Given the description of an element on the screen output the (x, y) to click on. 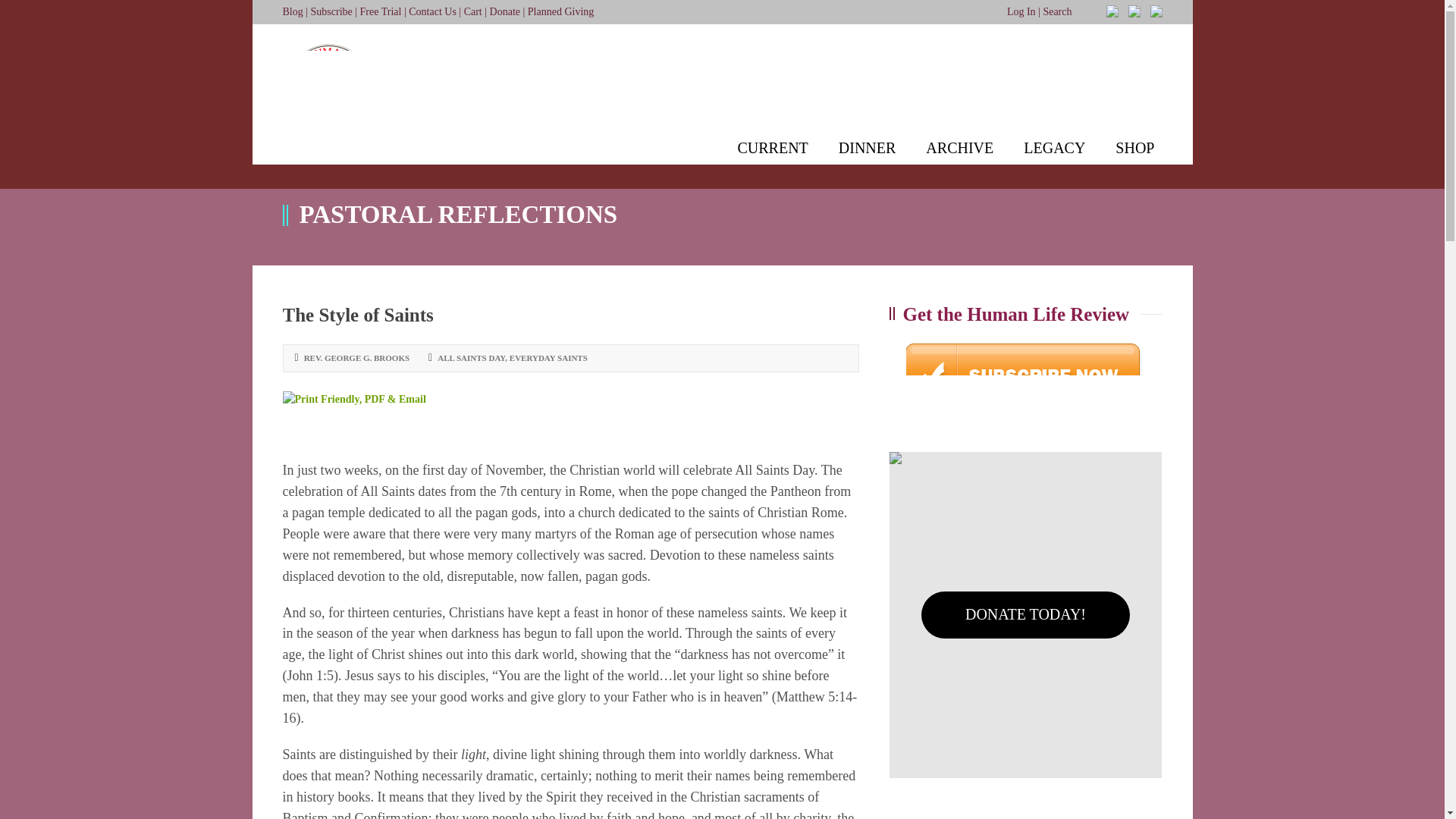
Blog (292, 11)
Subscribe (331, 11)
Cart (472, 11)
Donate (504, 11)
Free Trial (380, 11)
The Style of Saints (357, 314)
Contact Us (433, 11)
Search (1056, 11)
Log In (1021, 11)
Planned Giving (560, 11)
